Given the description of an element on the screen output the (x, y) to click on. 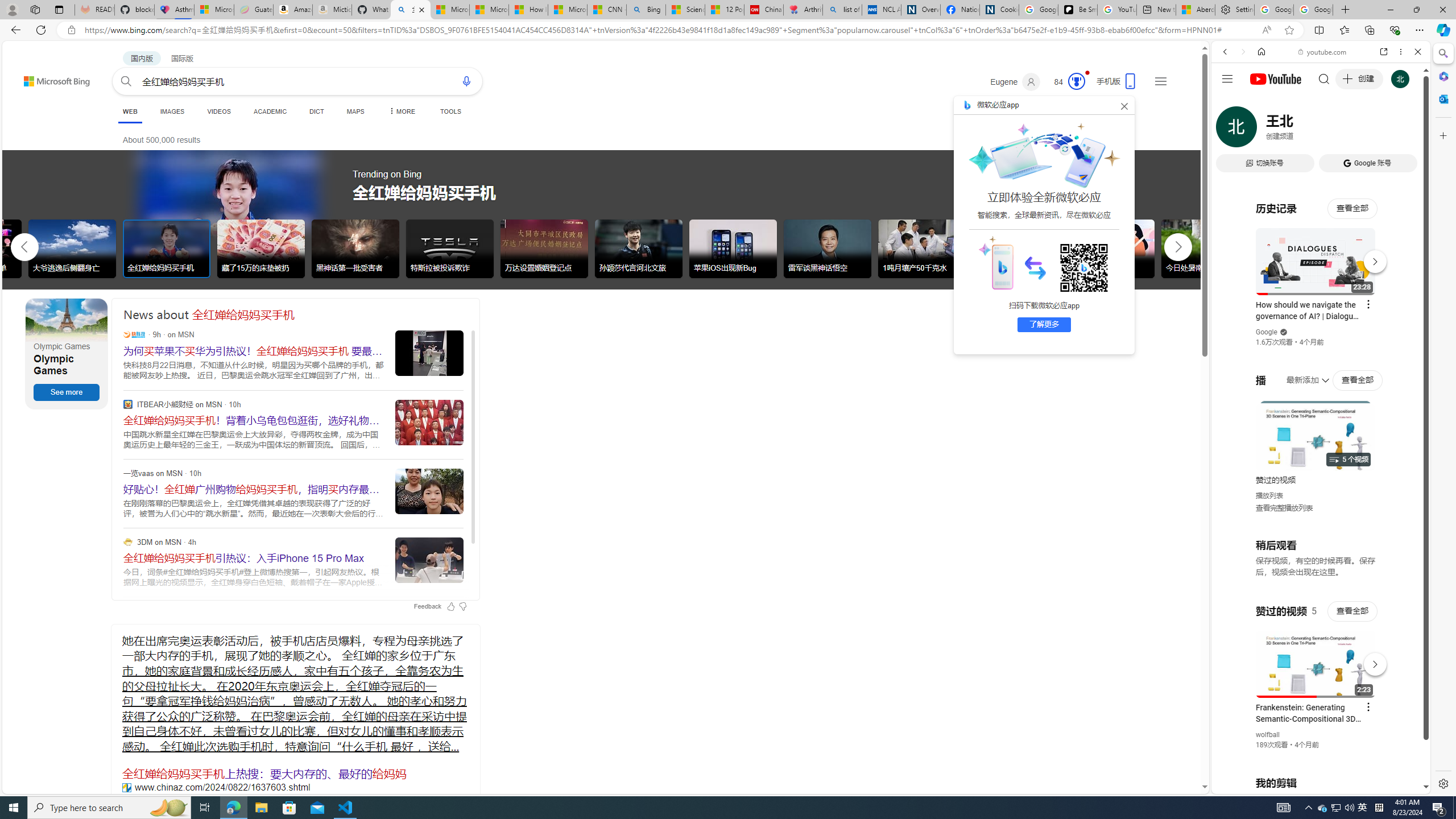
Aberdeen, Hong Kong SAR hourly forecast | Microsoft Weather (1195, 9)
Close (1417, 51)
Microsoft-Report a Concern to Bing (213, 9)
Music (1320, 309)
Workspaces (34, 9)
ACADEMIC (269, 111)
#you (1320, 253)
Restore (1416, 9)
Settings (1234, 9)
